Given the description of an element on the screen output the (x, y) to click on. 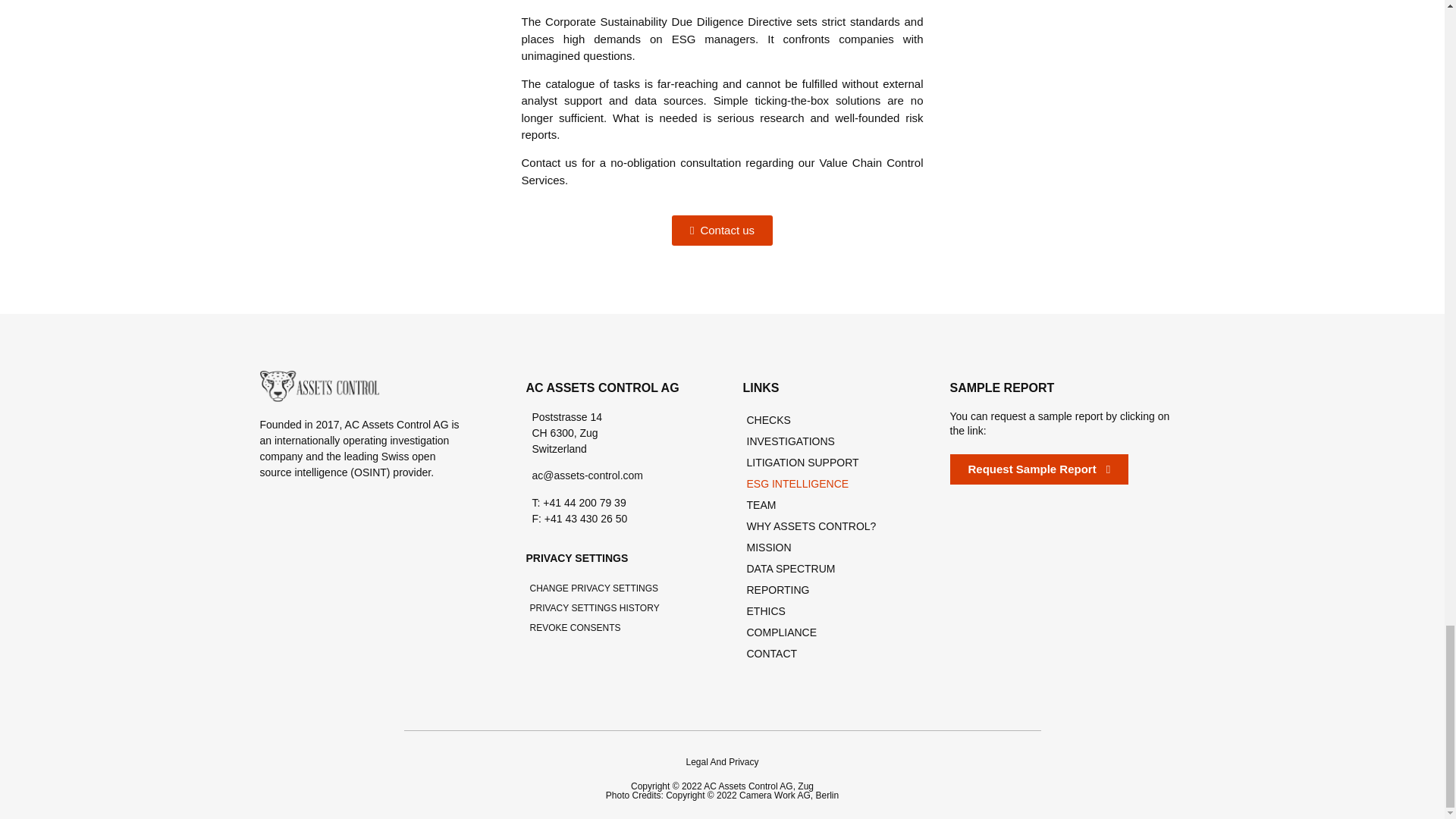
INVESTIGATIONS (815, 441)
REVOKE CONSENTS (603, 628)
PRIVACY SETTINGS HISTORY (603, 608)
Contact us (722, 230)
CHECKS (815, 419)
CHANGE PRIVACY SETTINGS (603, 588)
